Given the description of an element on the screen output the (x, y) to click on. 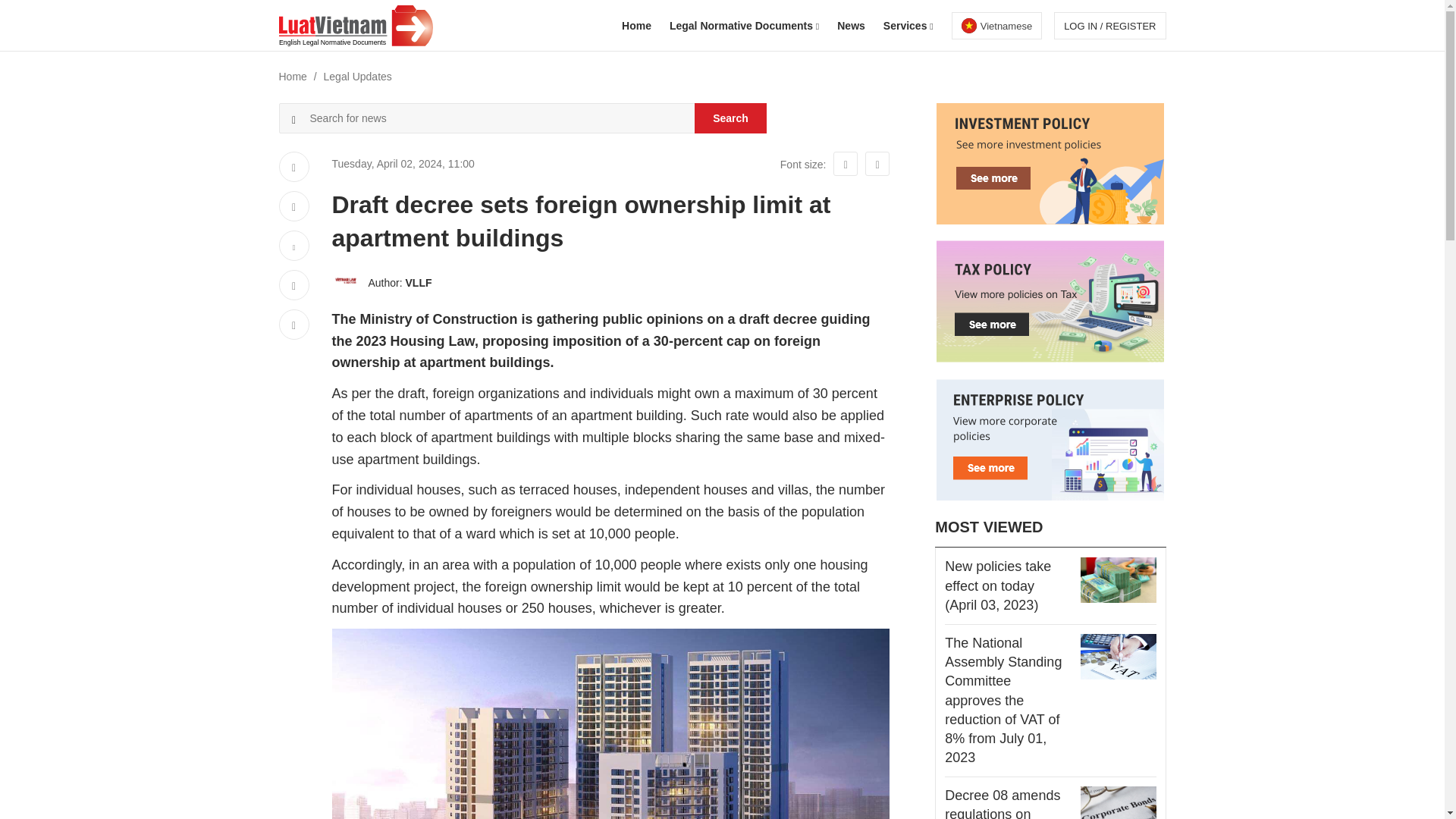
Services (908, 25)
VLLF (419, 282)
Legal Normative Documents  (743, 25)
Legal Normative Documents (743, 25)
News (850, 25)
LuatVietnam (997, 25)
Vietnamese (997, 25)
News (850, 25)
Home (635, 25)
Home (635, 25)
Services (908, 25)
